Given the description of an element on the screen output the (x, y) to click on. 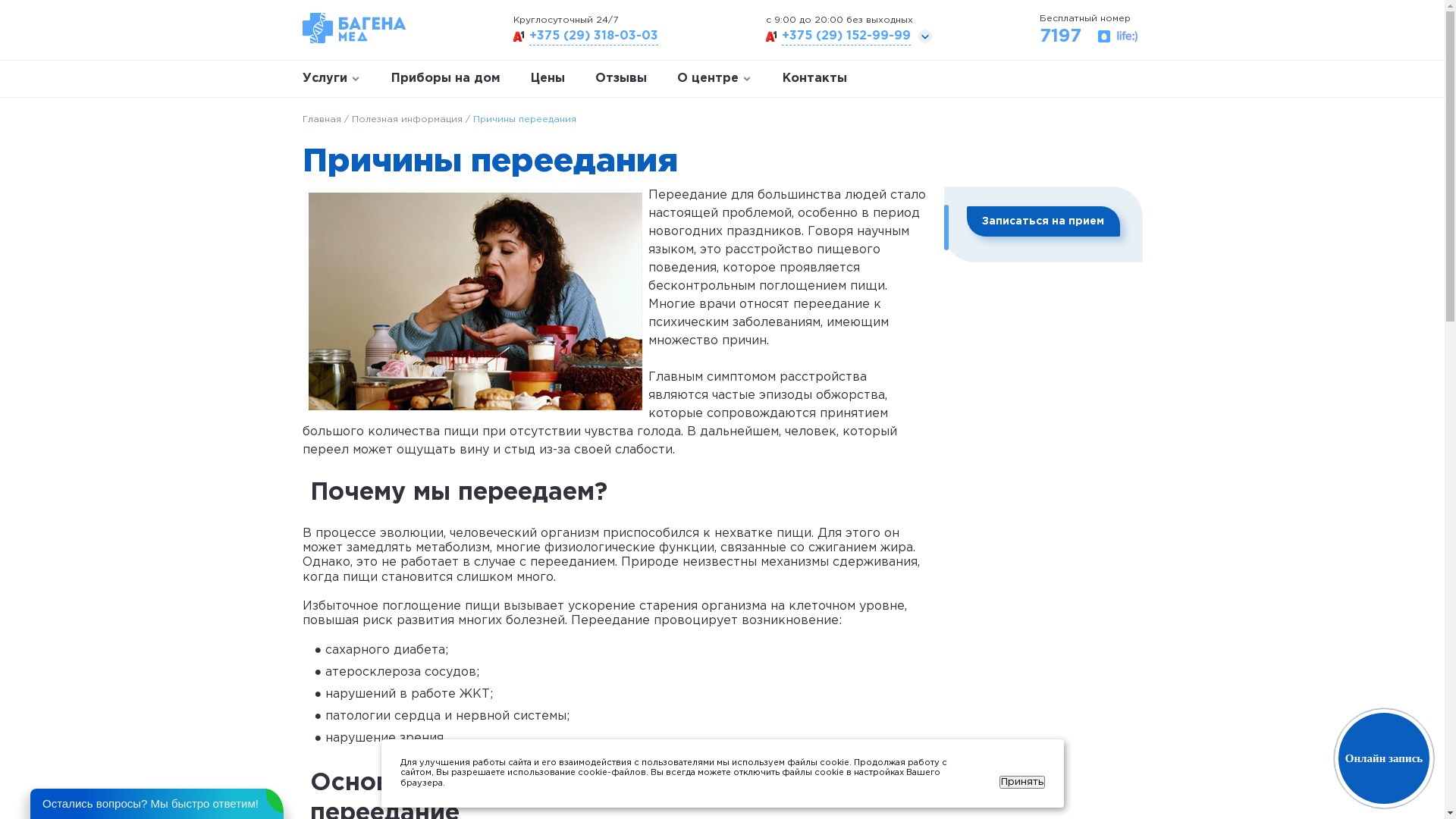
+375 (29) 318-03-03 Element type: text (593, 36)
+375 (29) 152-99-99 Element type: text (845, 36)
7197 Element type: text (1088, 36)
